Given the description of an element on the screen output the (x, y) to click on. 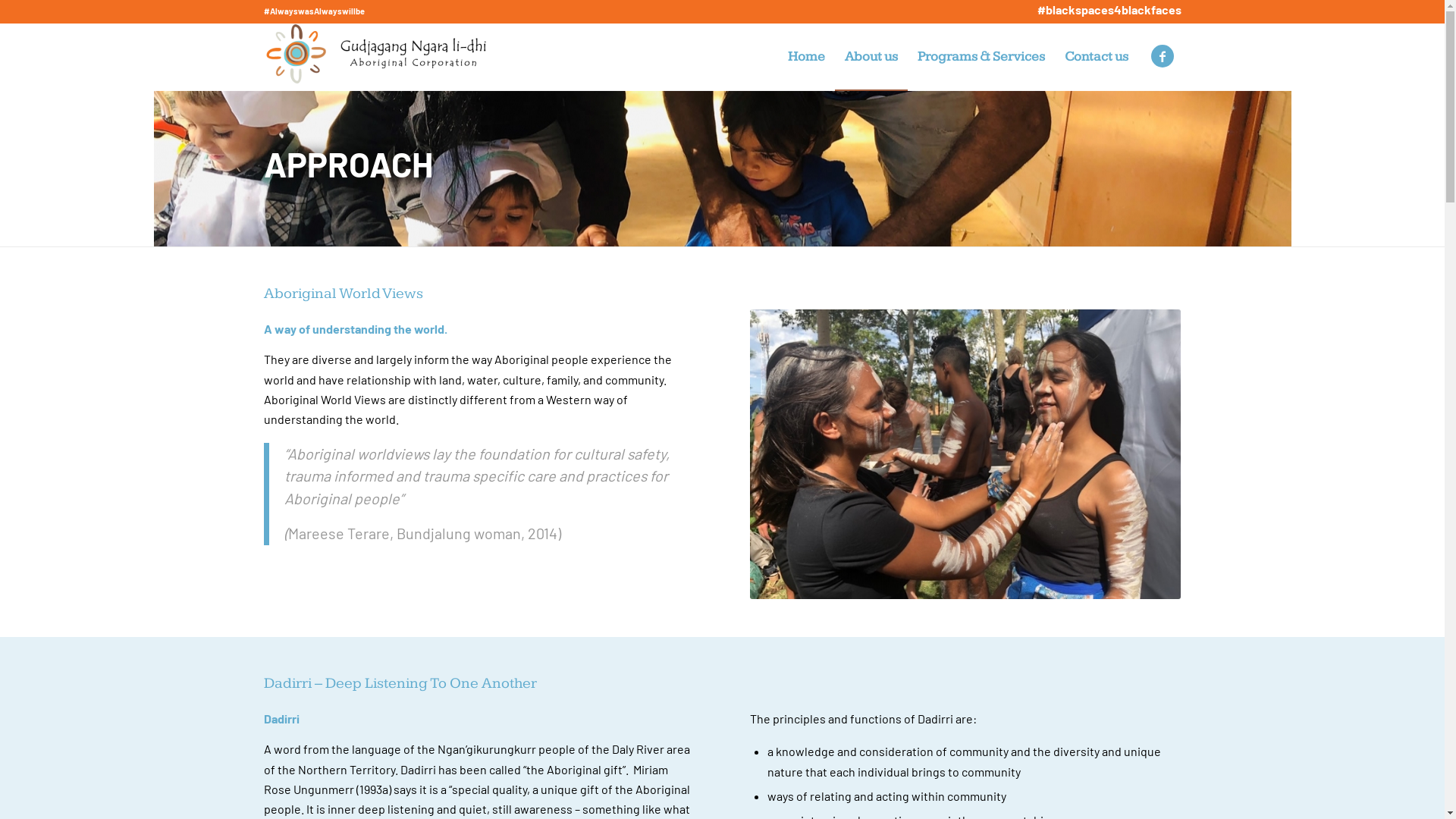
#AlwayswasAlwayswillbe Element type: text (313, 10)
Contact us Element type: text (1095, 56)
Programs & Services Element type: text (980, 56)
About us Element type: text (870, 56)
Facebook Element type: hover (1162, 55)
Home Element type: text (806, 56)
Love Lanes AK Element type: hover (965, 454)
